Given the description of an element on the screen output the (x, y) to click on. 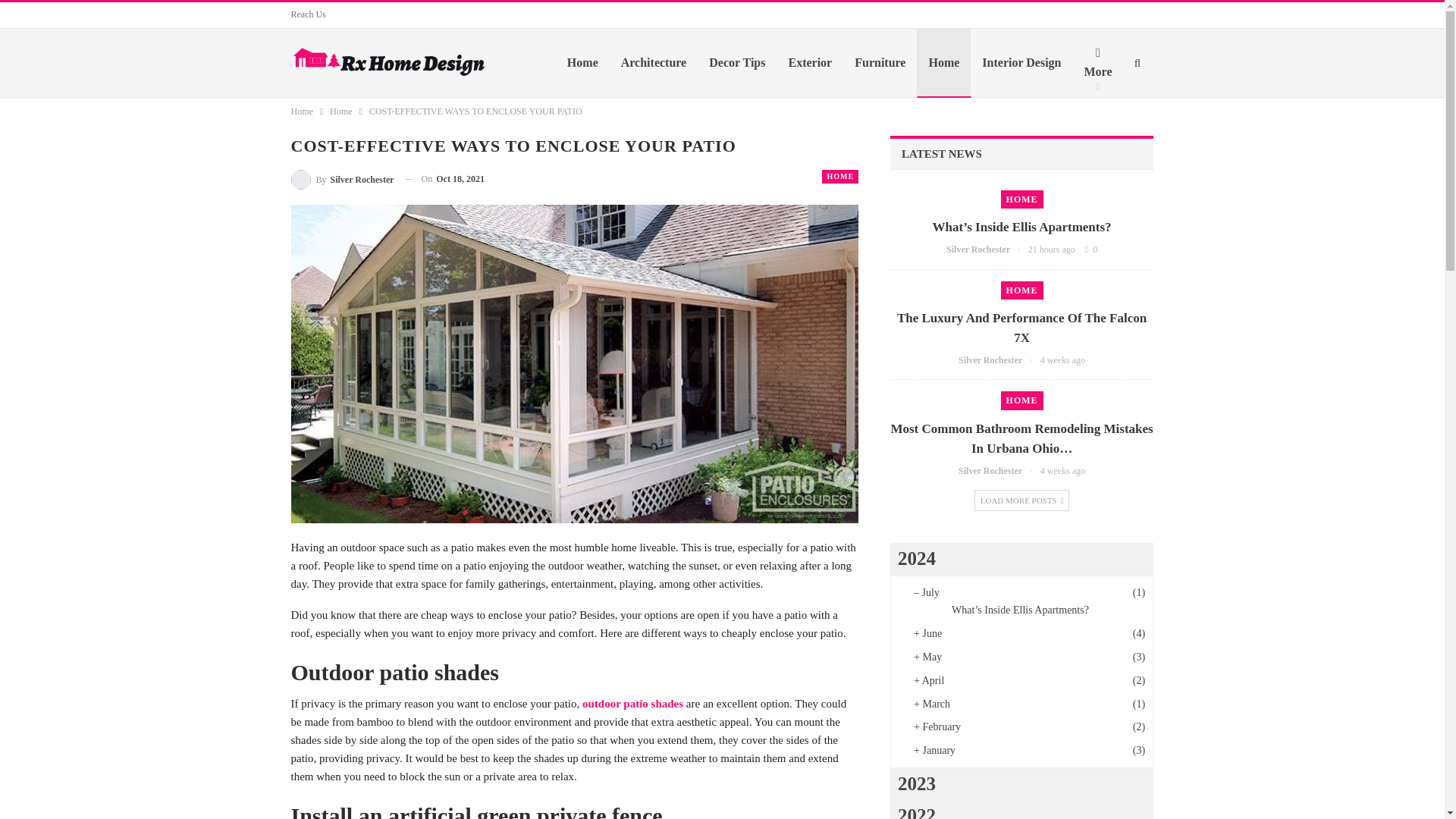
Home (341, 111)
Interior Design (1021, 62)
Reach Us (308, 14)
By Silver Rochester (342, 178)
HOME (840, 176)
Browse Author Articles (999, 359)
Decor Tips (736, 62)
Browse Author Articles (342, 178)
outdoor patio shades (632, 703)
Architecture (653, 62)
Exterior (809, 62)
HOME (1022, 199)
Furniture (880, 62)
Browse Author Articles (986, 249)
Home (302, 111)
